Given the description of an element on the screen output the (x, y) to click on. 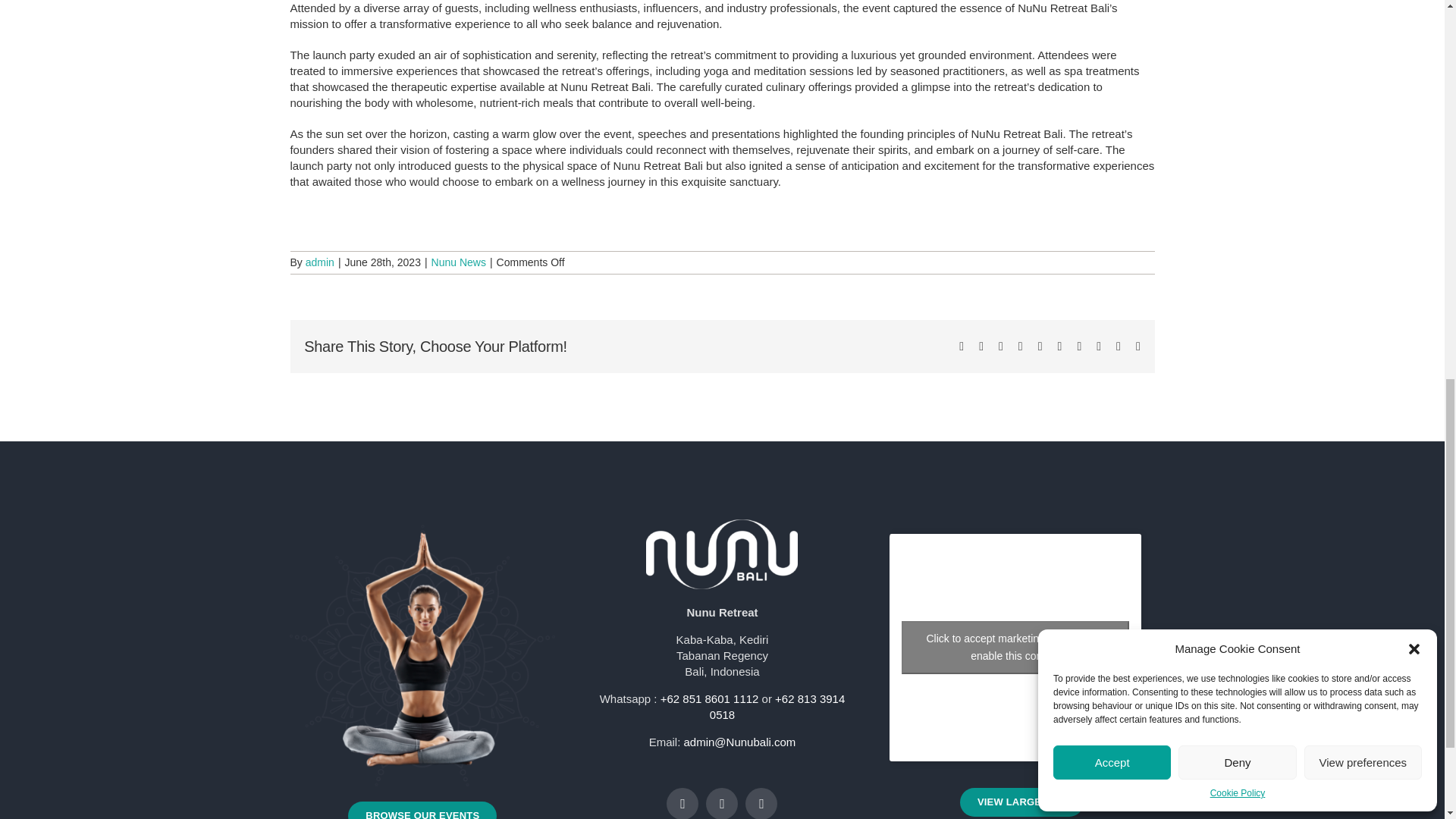
admin (319, 262)
Posts by admin (319, 262)
NuNu Bali Logo (721, 553)
Nunu News (458, 262)
nunu-gfooter-img01 (421, 654)
BROWSE OUR EVENTS (421, 810)
